Given the description of an element on the screen output the (x, y) to click on. 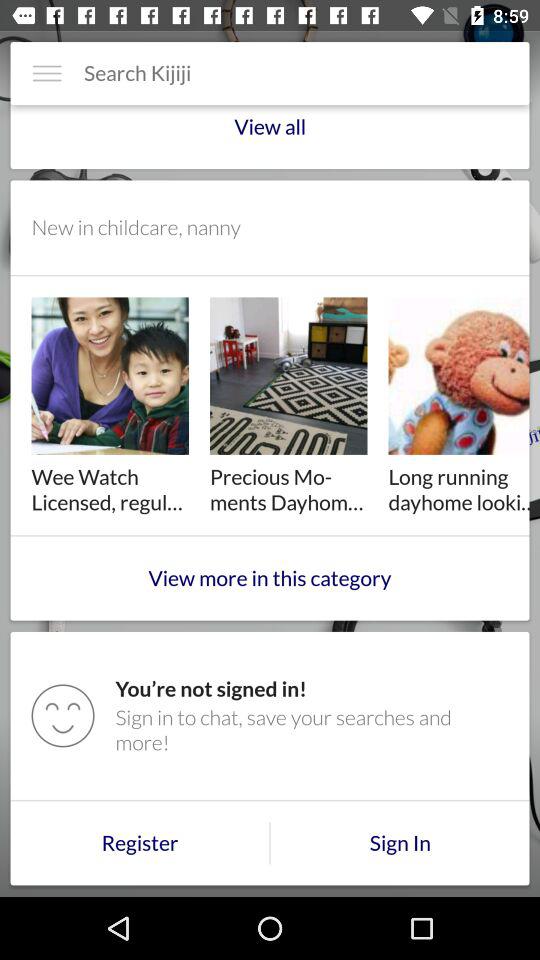
click on sign in (400, 842)
